Given the description of an element on the screen output the (x, y) to click on. 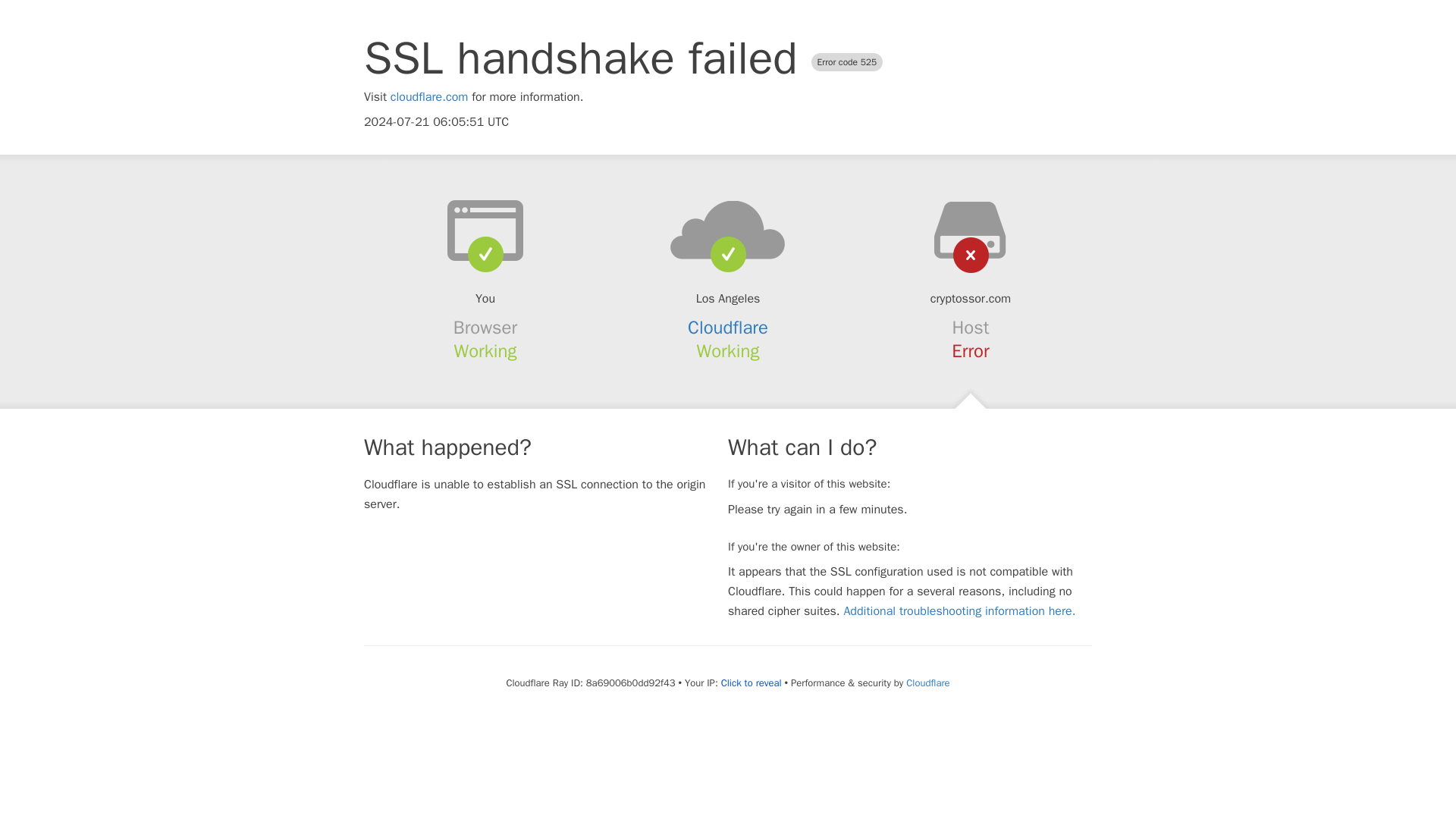
cloudflare.com (429, 96)
Cloudflare (927, 682)
Click to reveal (750, 683)
Additional troubleshooting information here. (959, 611)
Cloudflare (727, 327)
